Given the description of an element on the screen output the (x, y) to click on. 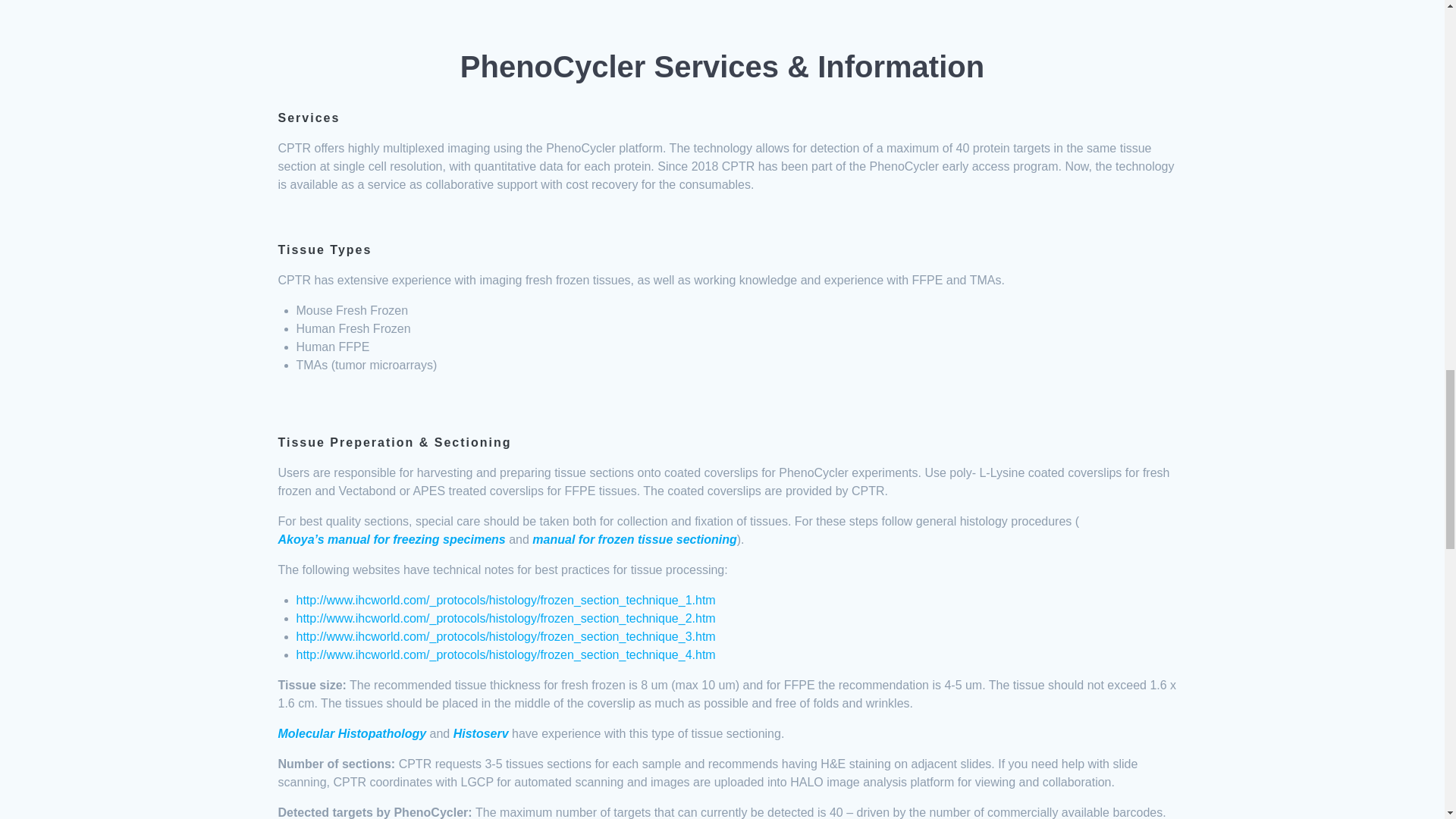
Molecular Histopathology (352, 733)
manual for frozen tissue sectioning (634, 539)
Histoserv (480, 733)
